Given the description of an element on the screen output the (x, y) to click on. 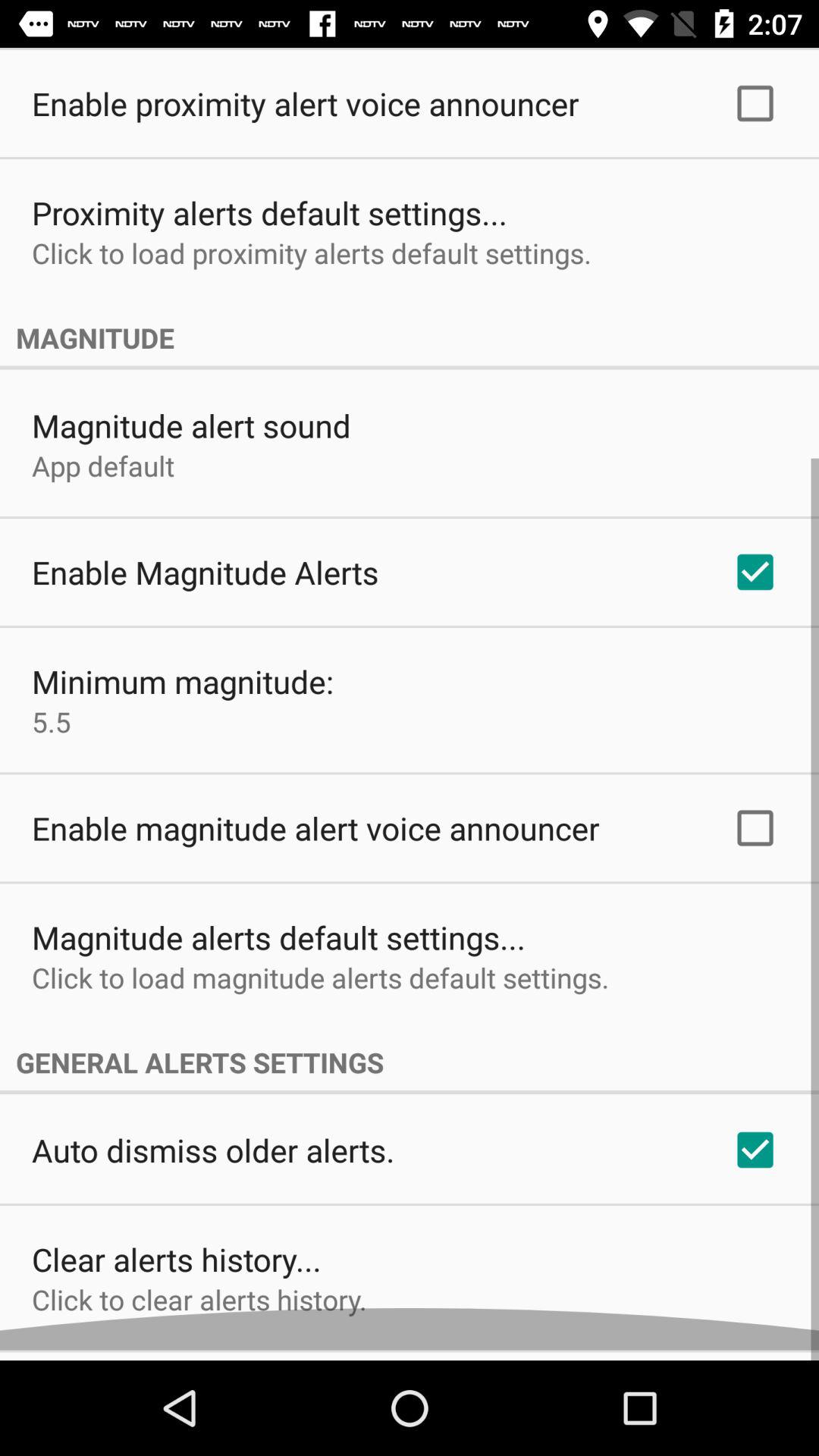
select the icon above the clear alerts history... app (212, 1159)
